Given the description of an element on the screen output the (x, y) to click on. 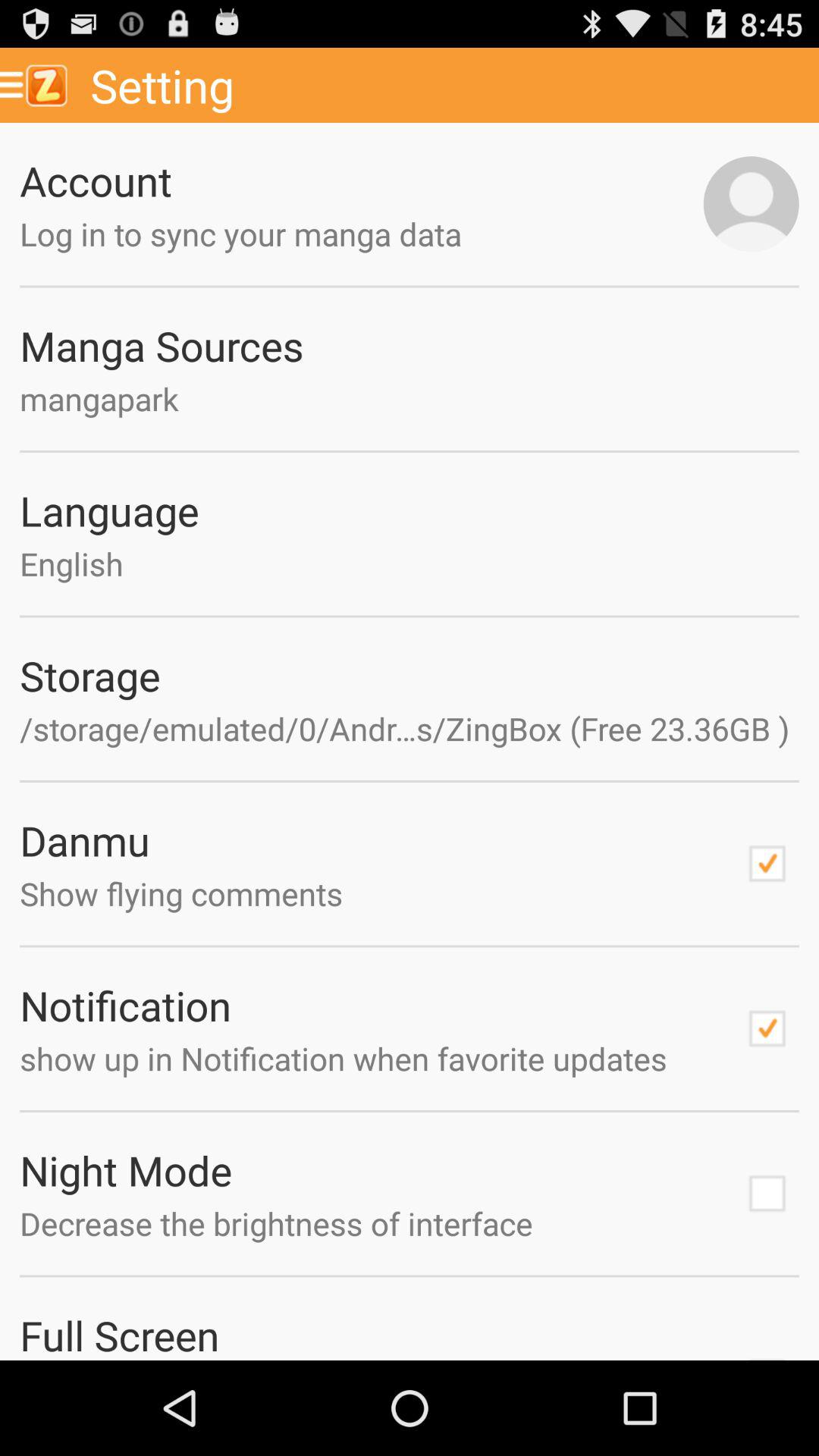
text below manga sources (409, 398)
select the check box for danmu (767, 863)
select the settings bar (449, 85)
text above the text mangapark (409, 344)
storageemulated0andrszingbox  free 2336gb  (409, 727)
select the box which is beside notification (767, 1029)
